Given the description of an element on the screen output the (x, y) to click on. 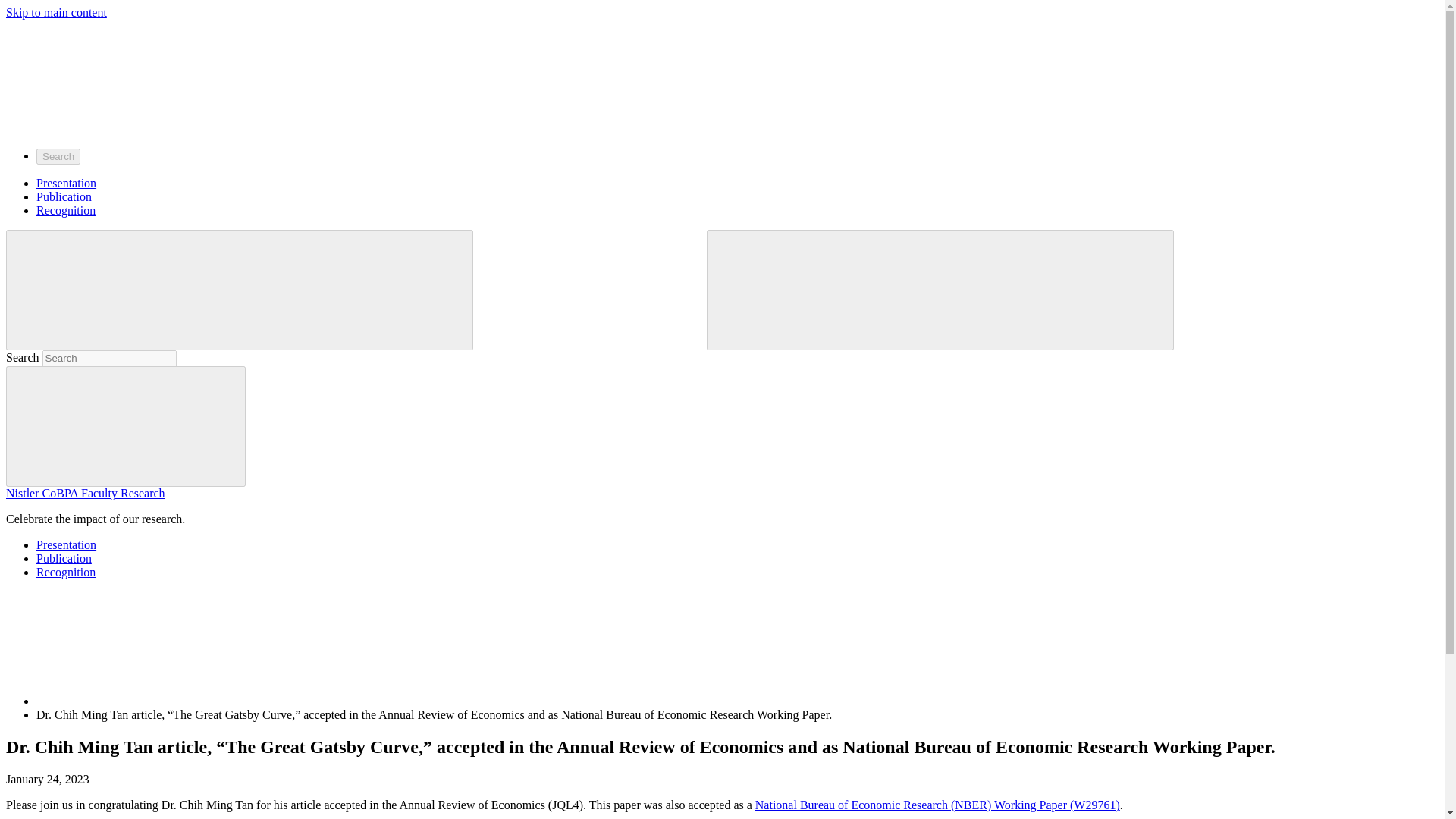
University of North Dakota (589, 288)
University of North Dakota (118, 76)
Recognition (66, 210)
Home (149, 648)
Home (149, 700)
Recognition (66, 571)
Presentation (66, 182)
Open MenuClose Menu (239, 290)
Presentation (66, 544)
University of North Dakota (118, 128)
Nistler CoBPA Faculty Research (85, 492)
Open SearchClose Search (939, 290)
University of North Dakota (591, 341)
Submit (125, 426)
Close Menu (353, 288)
